Given the description of an element on the screen output the (x, y) to click on. 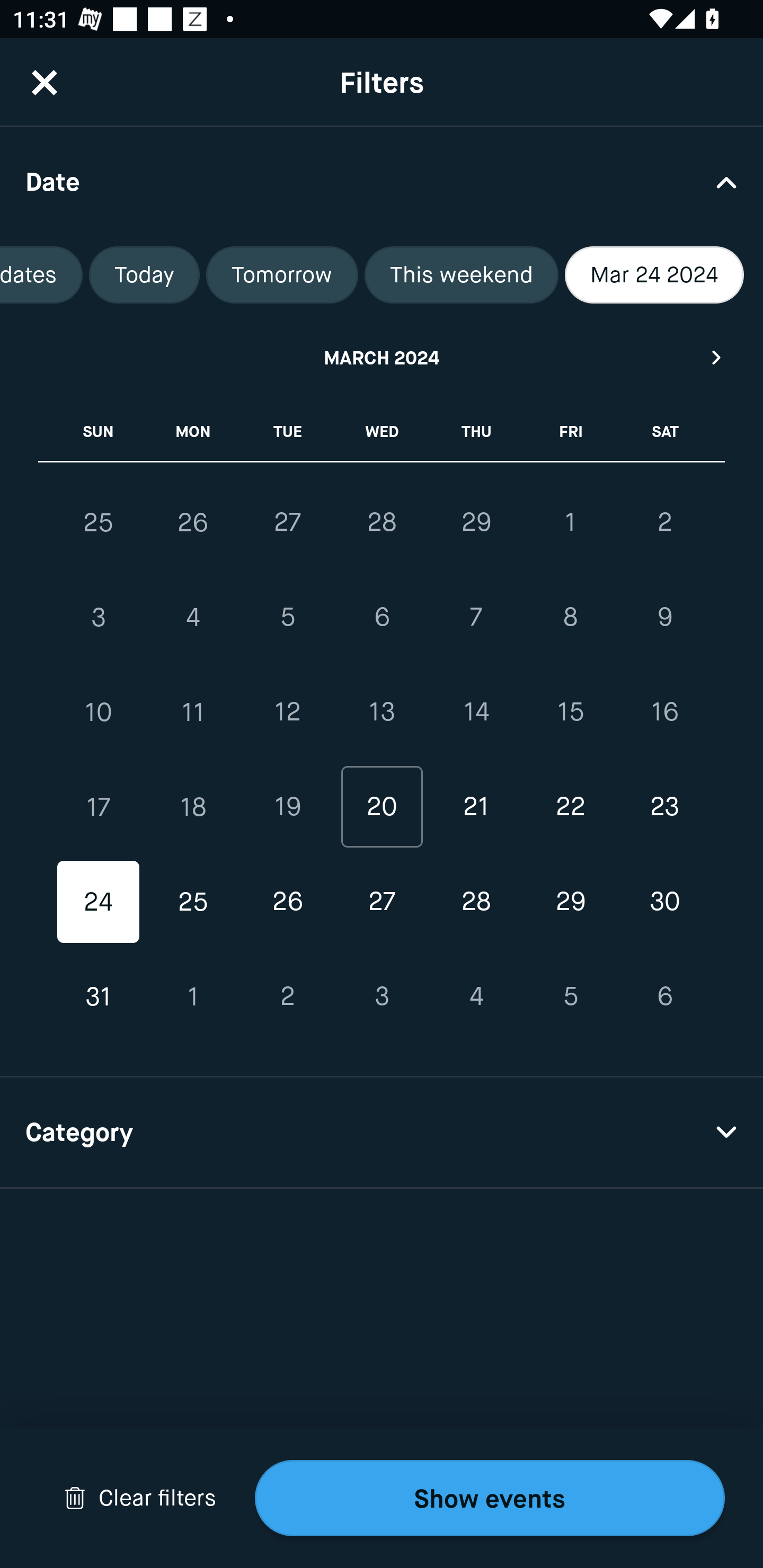
CloseButton (44, 82)
Date Drop Down Arrow (381, 181)
All dates (41, 274)
Today (144, 274)
Tomorrow (281, 274)
This weekend (461, 274)
Mar 24 2024 (653, 274)
Next (717, 357)
25 (98, 522)
26 (192, 522)
27 (287, 522)
28 (381, 522)
29 (475, 522)
1 (570, 522)
2 (664, 522)
3 (98, 617)
4 (192, 617)
5 (287, 617)
6 (381, 617)
7 (475, 617)
8 (570, 617)
9 (664, 617)
10 (98, 711)
11 (192, 711)
12 (287, 711)
13 (381, 711)
14 (475, 711)
15 (570, 711)
16 (664, 711)
17 (98, 806)
18 (192, 806)
19 (287, 806)
20 (381, 806)
21 (475, 806)
22 (570, 806)
23 (664, 806)
24 (98, 901)
25 (192, 901)
26 (287, 901)
27 (381, 901)
28 (475, 901)
29 (570, 901)
30 (664, 901)
31 (98, 996)
1 (192, 996)
2 (287, 996)
3 (381, 996)
4 (475, 996)
5 (570, 996)
6 (664, 996)
Category Drop Down Arrow (381, 1132)
Drop Down Arrow Clear filters (139, 1497)
Show events (489, 1497)
